Given the description of an element on the screen output the (x, y) to click on. 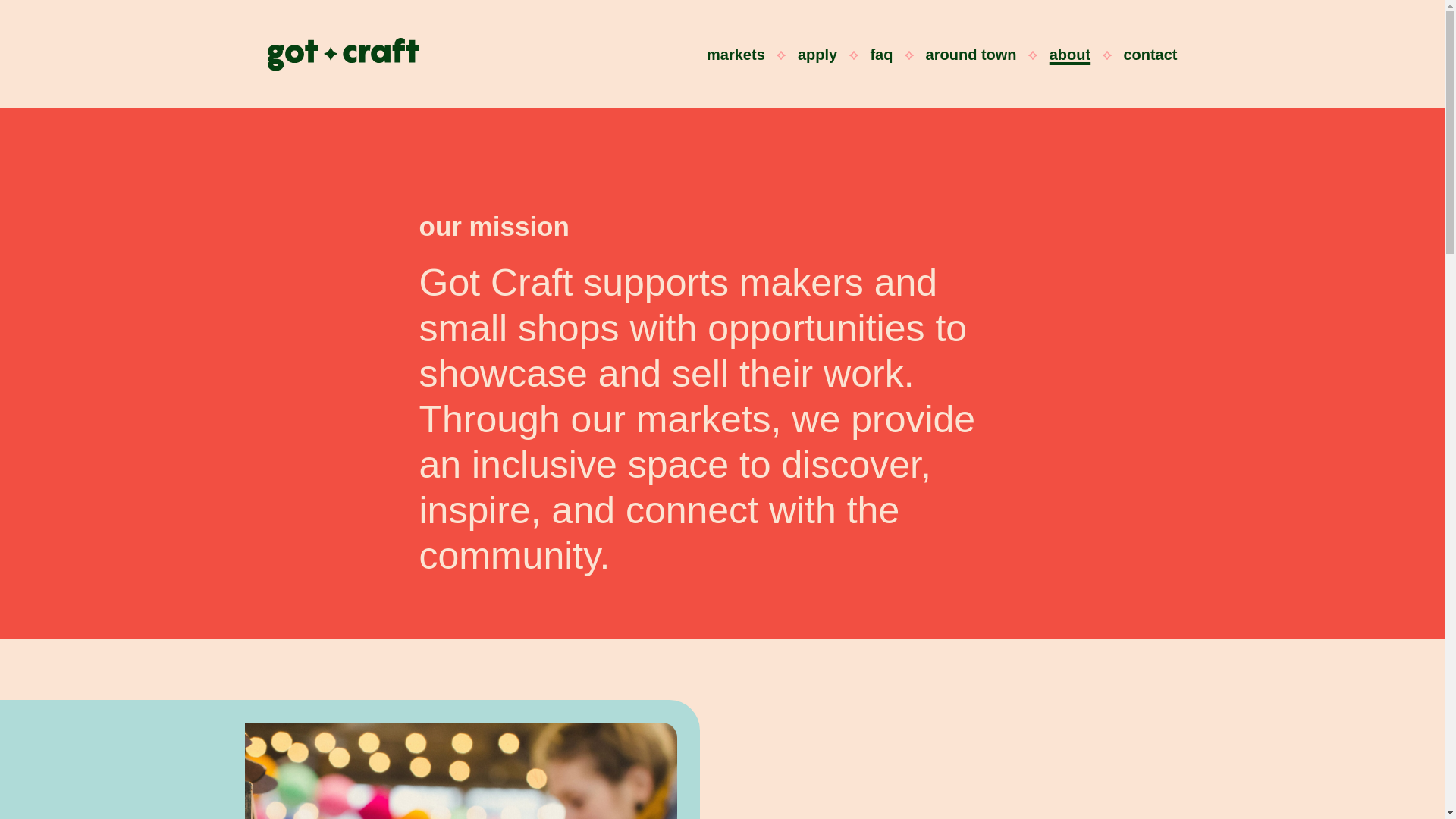
markets (735, 54)
contact (1149, 54)
apply (817, 54)
around town (971, 54)
about (1069, 54)
faq (880, 54)
